Given the description of an element on the screen output the (x, y) to click on. 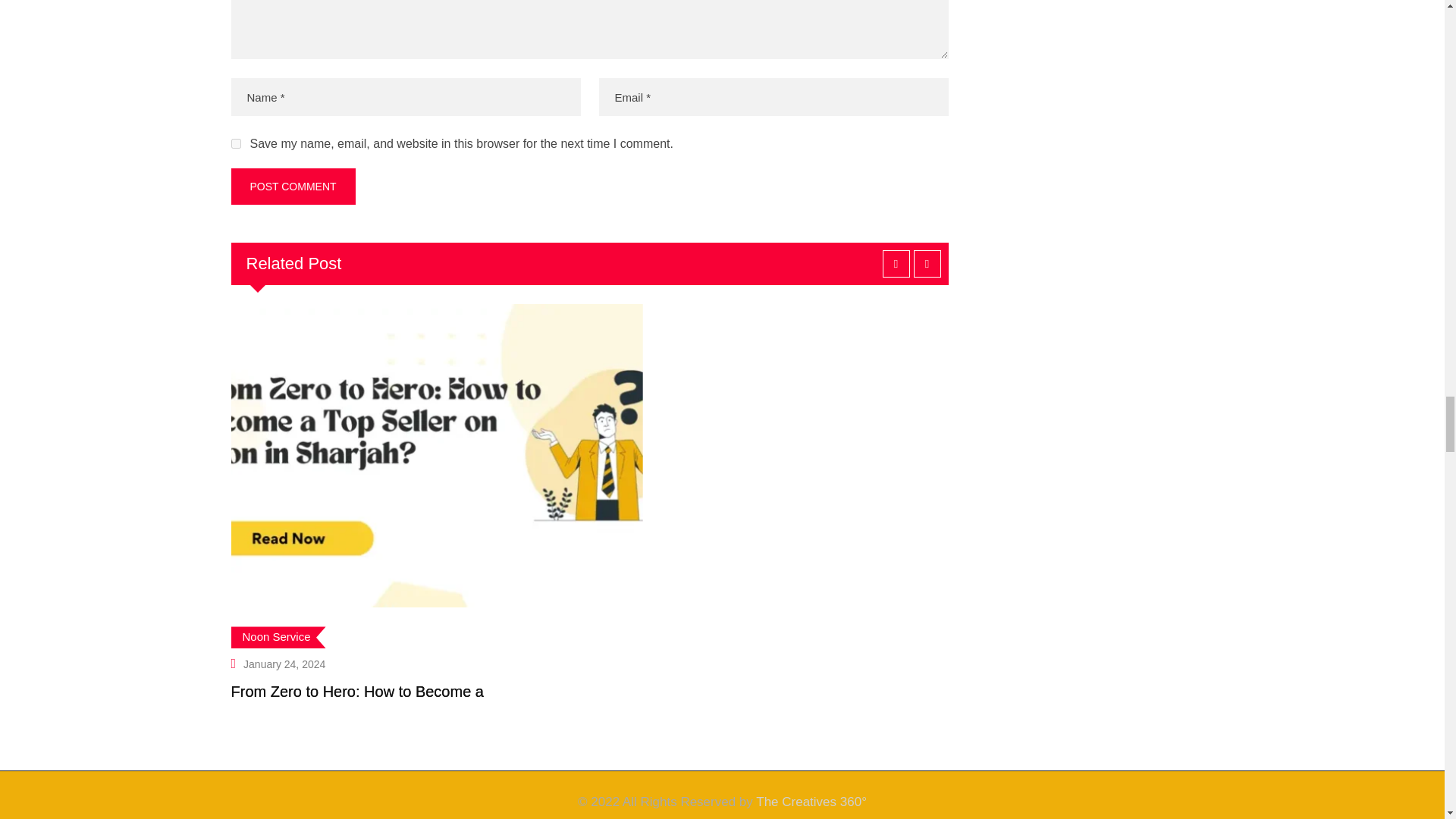
From Zero to Hero: How to Become a (356, 691)
Noon Service (277, 637)
yes (235, 143)
Post Comment (292, 186)
Post Comment (292, 186)
